Given the description of an element on the screen output the (x, y) to click on. 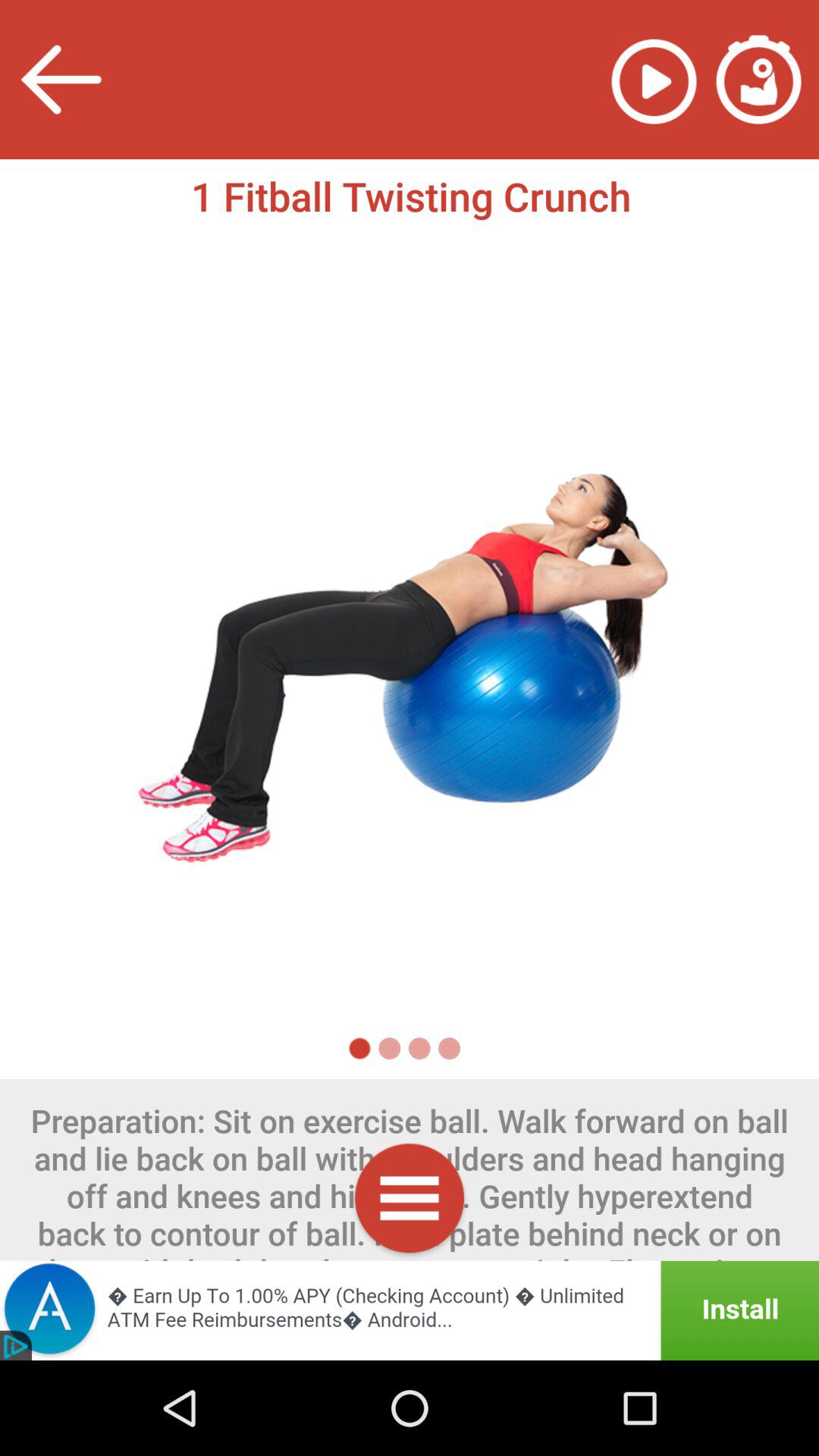
open advertisement (409, 1310)
